Given the description of an element on the screen output the (x, y) to click on. 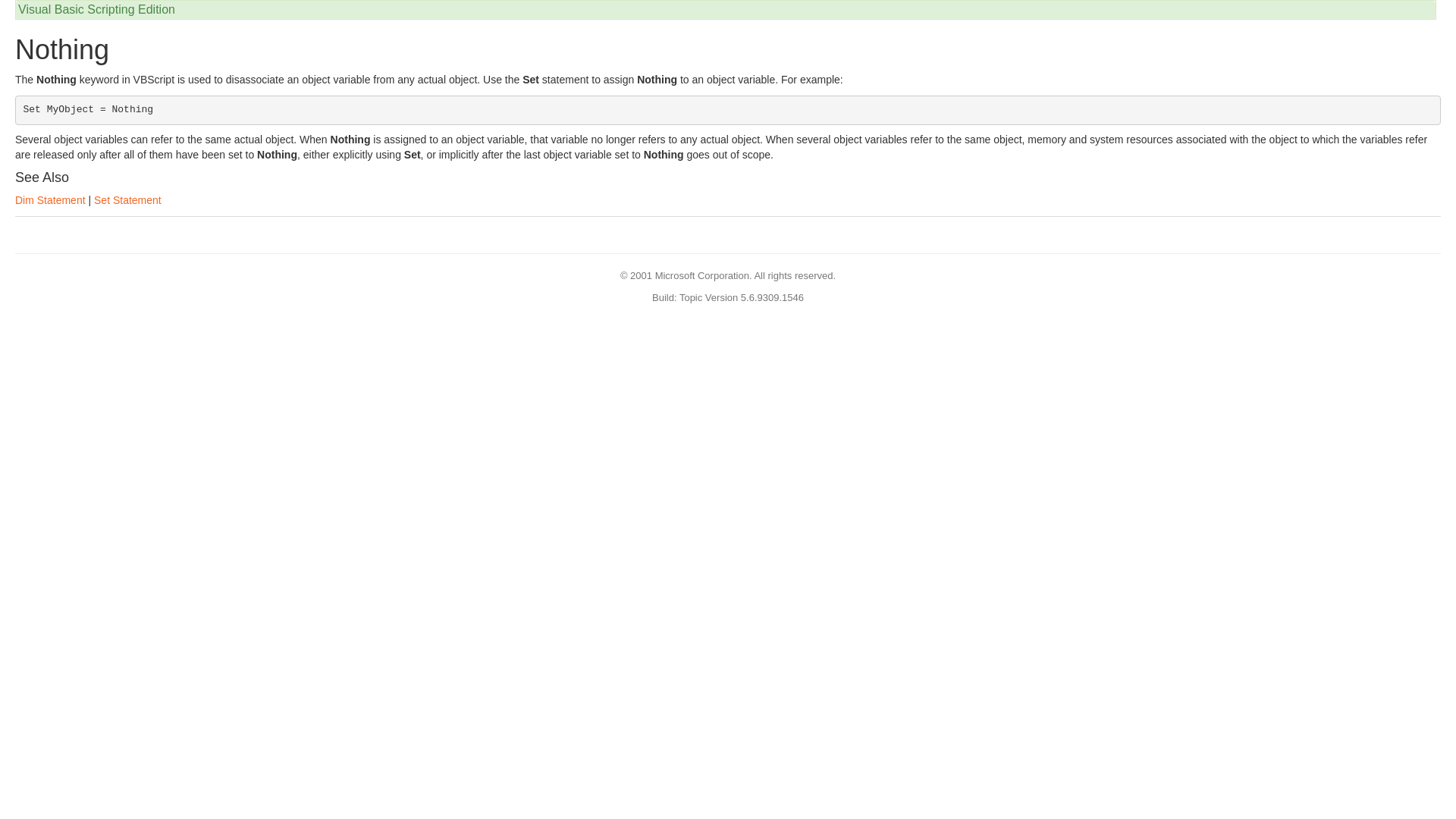
Dim Statement (49, 200)
Set Statement (127, 200)
